Given the description of an element on the screen output the (x, y) to click on. 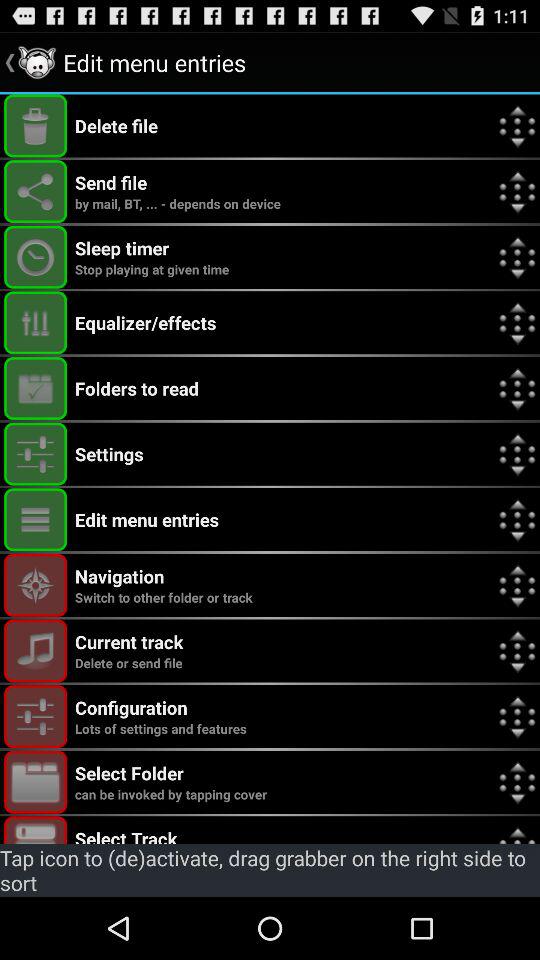
send file (35, 191)
